Given the description of an element on the screen output the (x, y) to click on. 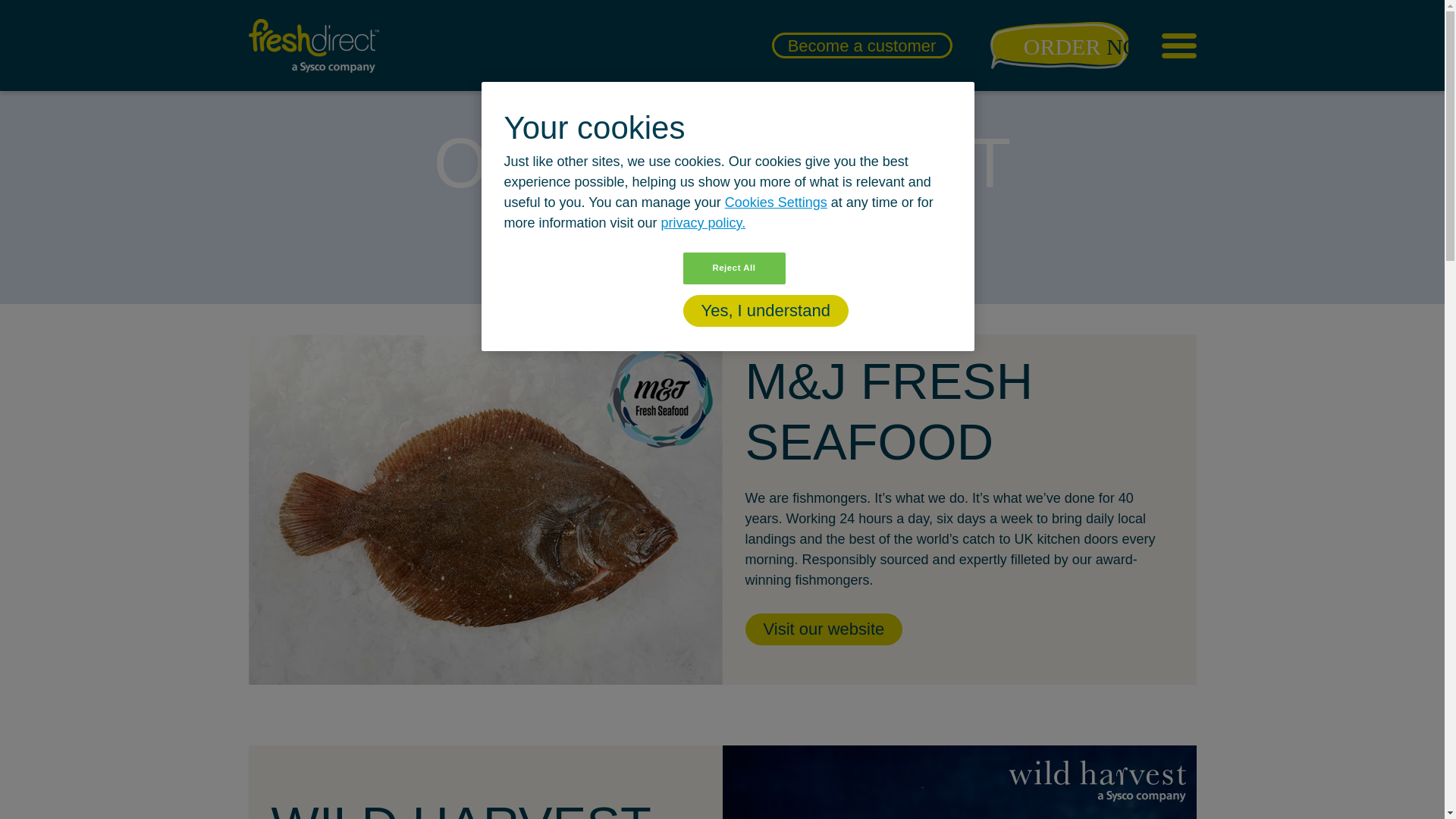
Our Customers (297, 17)
Sustainability (297, 47)
ORDER NOW (1059, 45)
ORDER NOW (1057, 45)
Visit our website (823, 629)
